Given the description of an element on the screen output the (x, y) to click on. 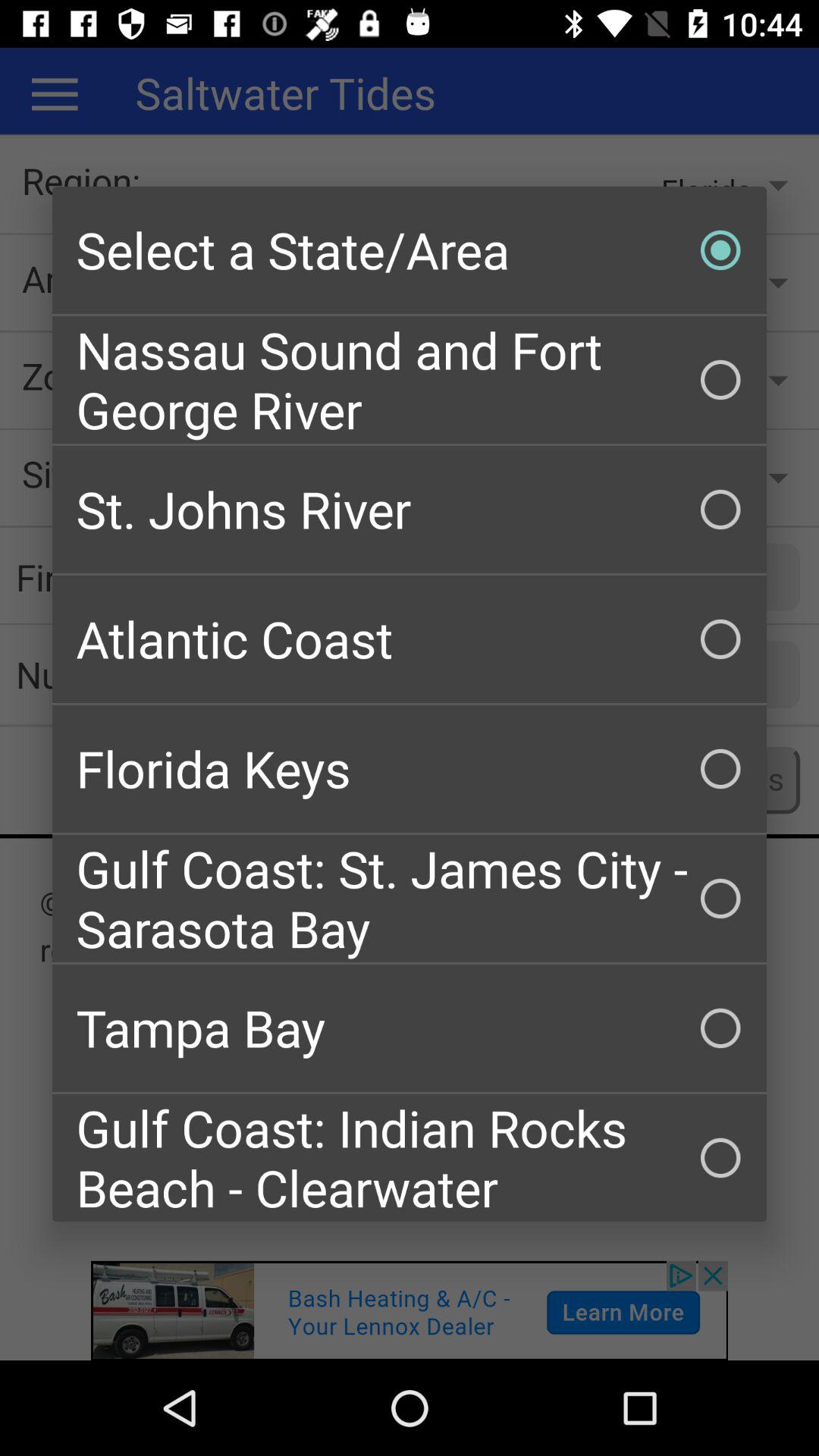
scroll to the florida keys checkbox (409, 768)
